Given the description of an element on the screen output the (x, y) to click on. 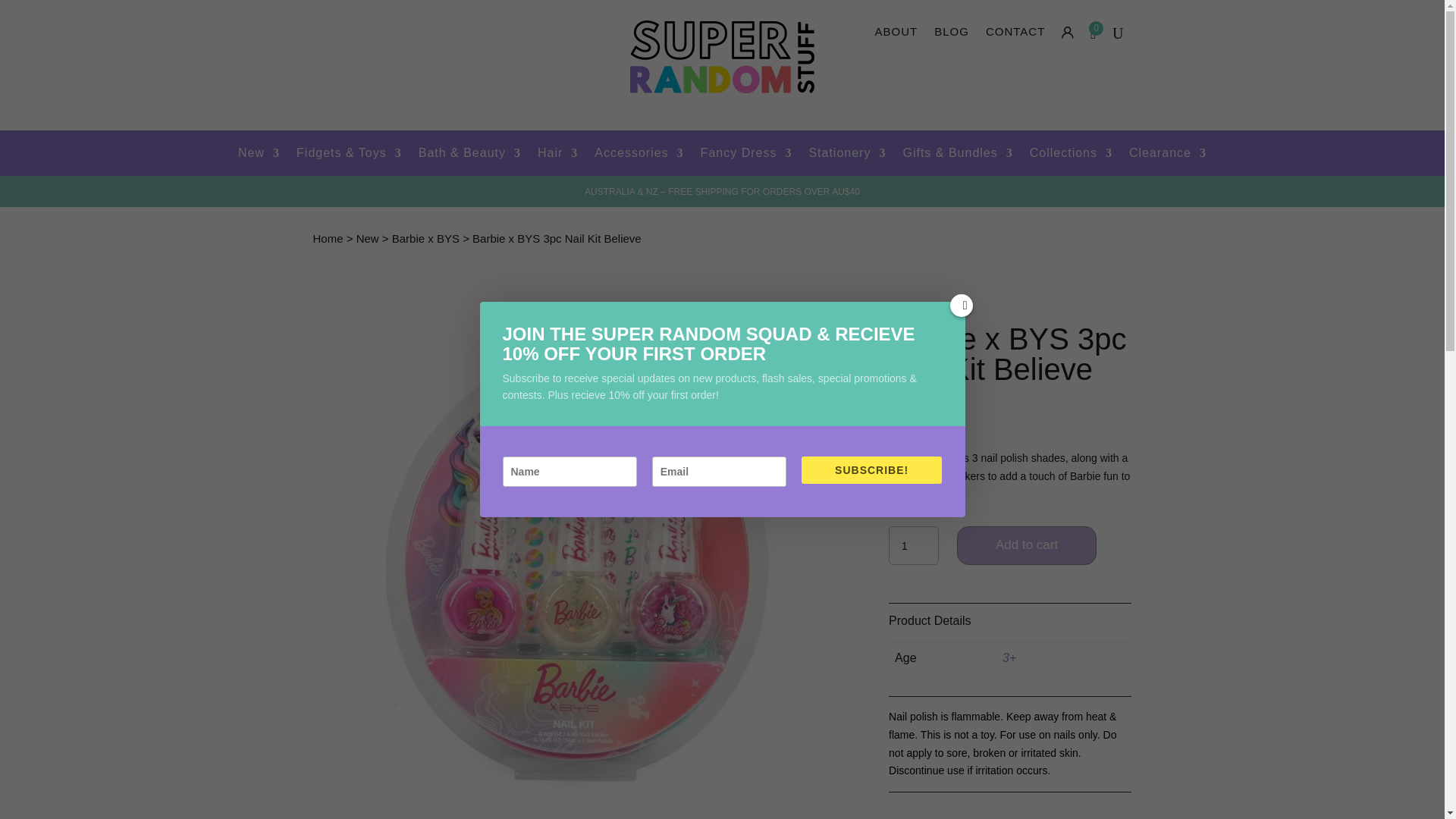
ABOUT (896, 35)
Super-Random-Stuff-Header (721, 57)
1 (913, 545)
BLOG (951, 35)
CONTACT (1015, 35)
New (258, 156)
